Given the description of an element on the screen output the (x, y) to click on. 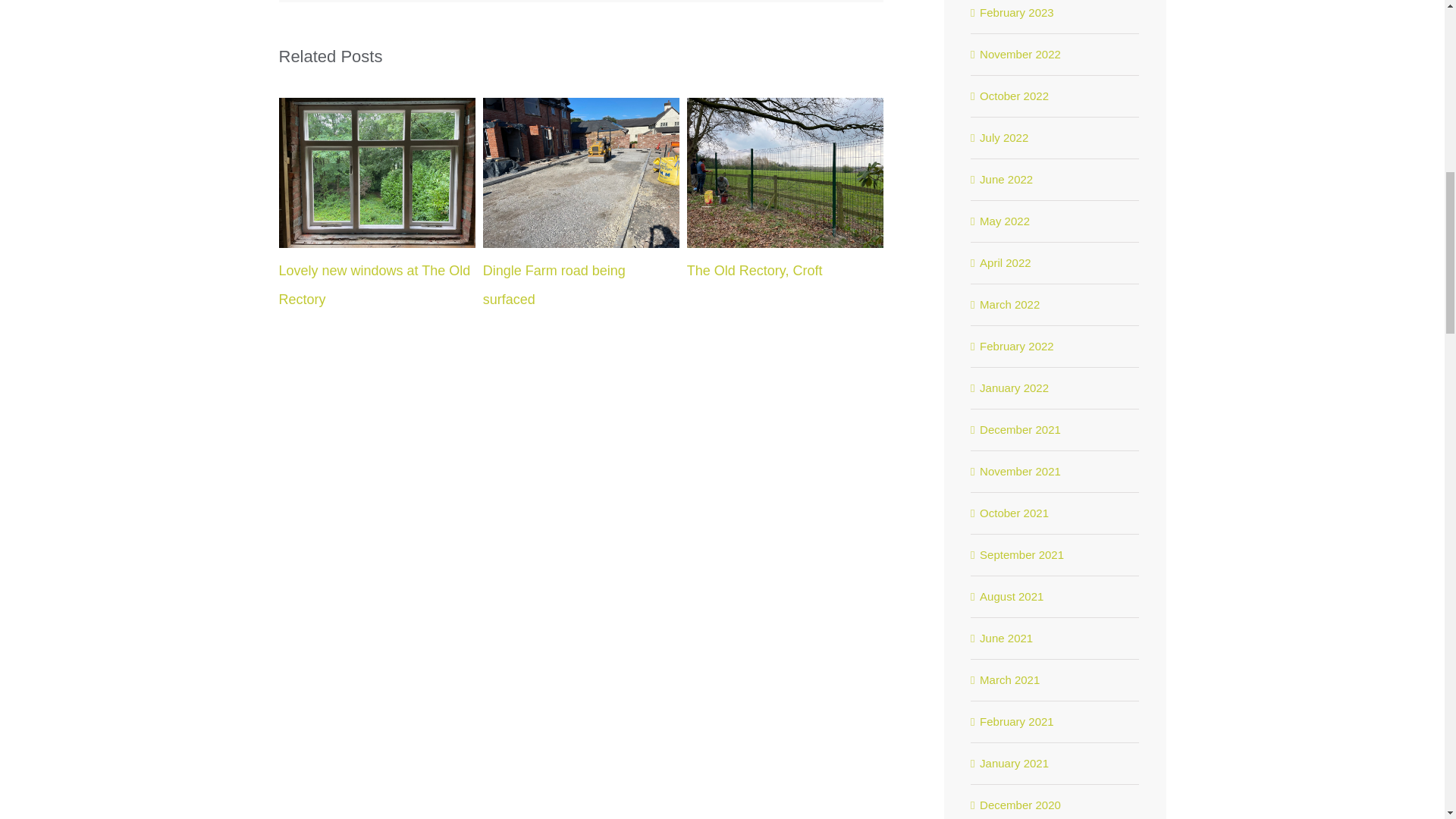
Lovely new windows at The Old Rectory (374, 284)
The Old Rectory, Croft (754, 270)
Dingle Farm road being surfaced (554, 284)
Lovely new windows at The Old Rectory (374, 284)
The Old Rectory, Croft (754, 270)
Dingle Farm road being surfaced (554, 284)
